Given the description of an element on the screen output the (x, y) to click on. 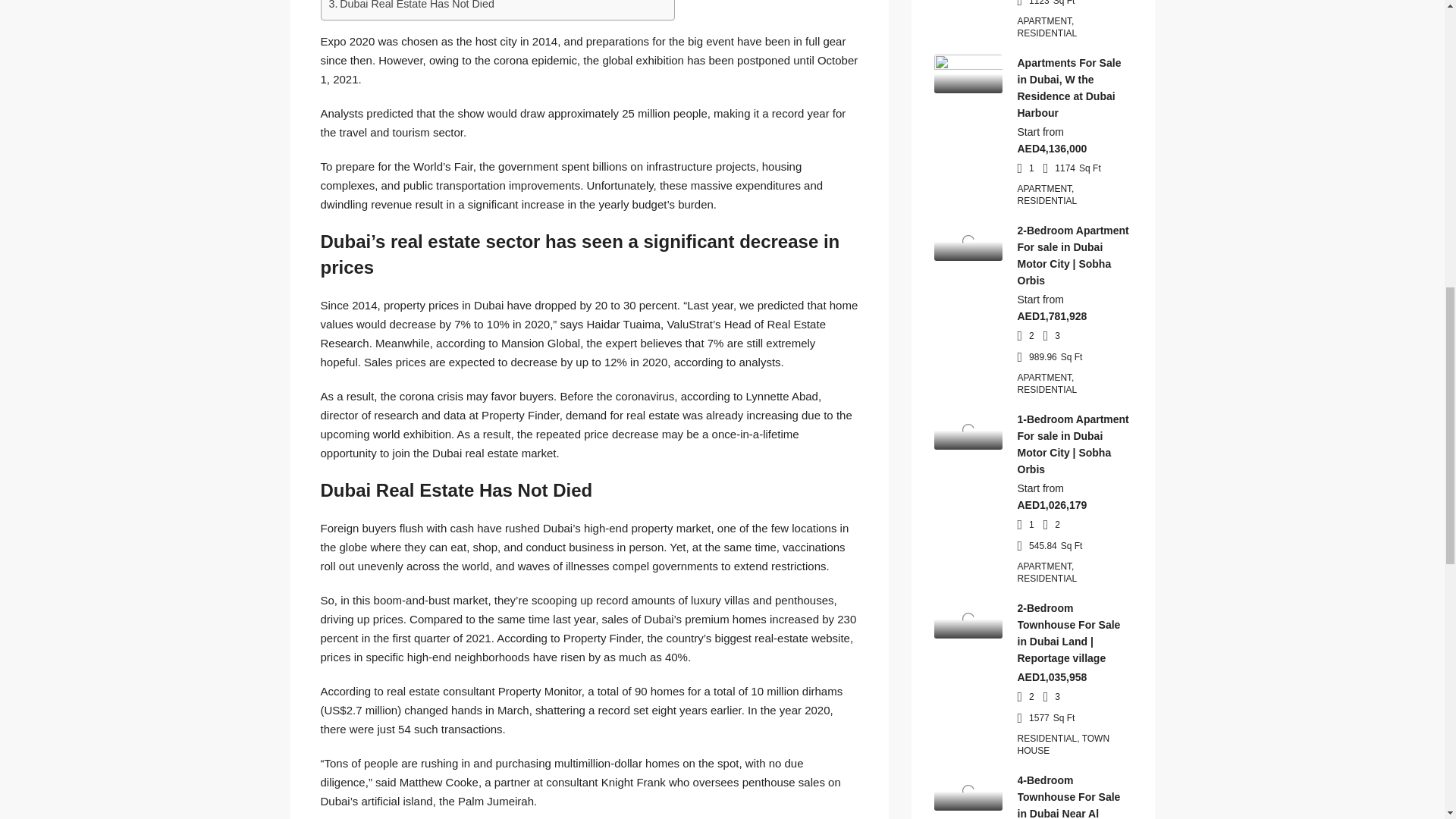
Dubai Real Estate Has Not Died (412, 6)
Dubai Real Estate Has Not Died (412, 6)
